Given the description of an element on the screen output the (x, y) to click on. 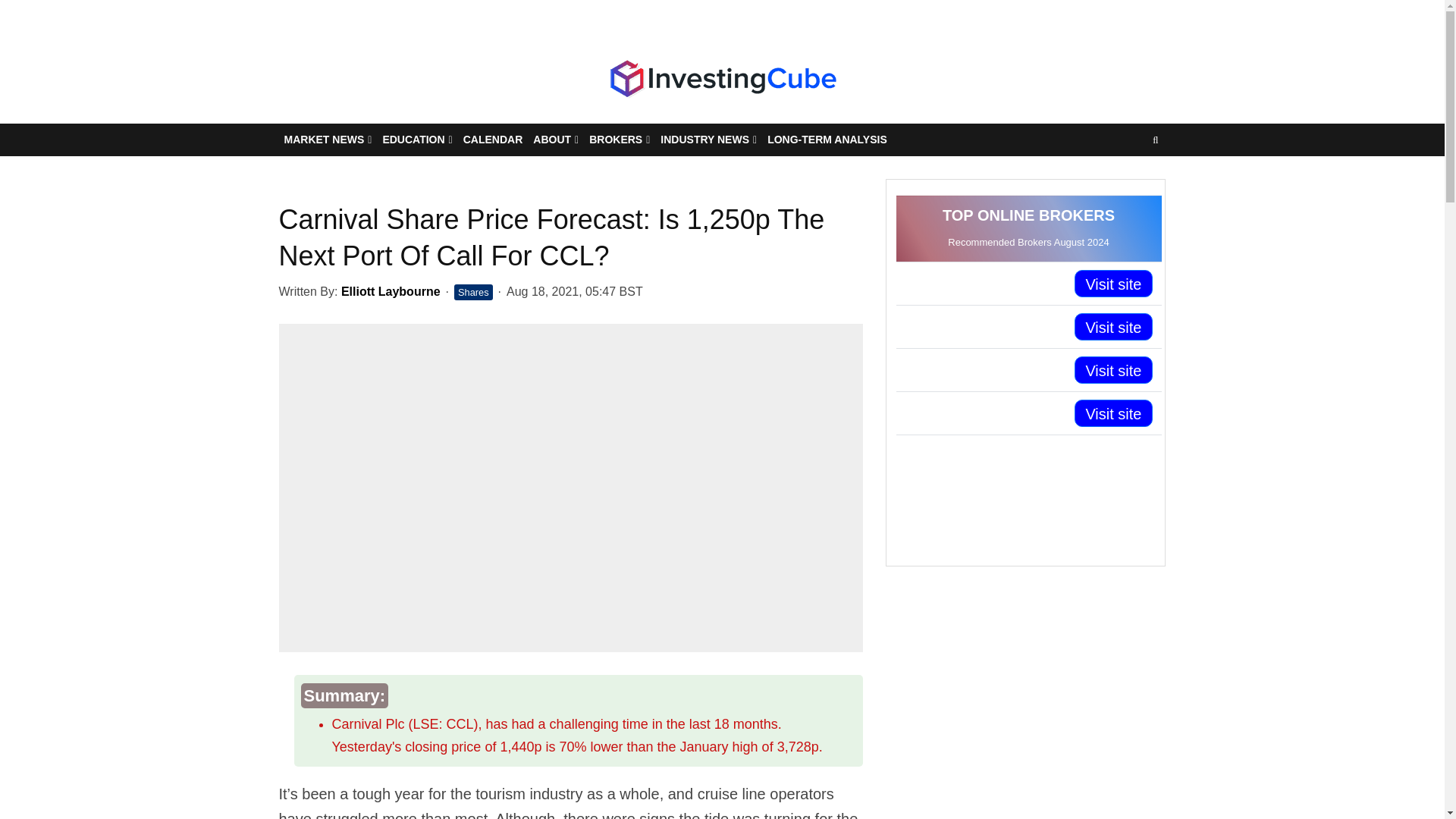
ABOUT (555, 139)
EDUCATION (417, 139)
CALENDAR (493, 139)
MARKET NEWS (328, 139)
LONG-TERM ANALYSIS (826, 139)
INDUSTRY NEWS (708, 139)
BROKERS (619, 139)
